Given the description of an element on the screen output the (x, y) to click on. 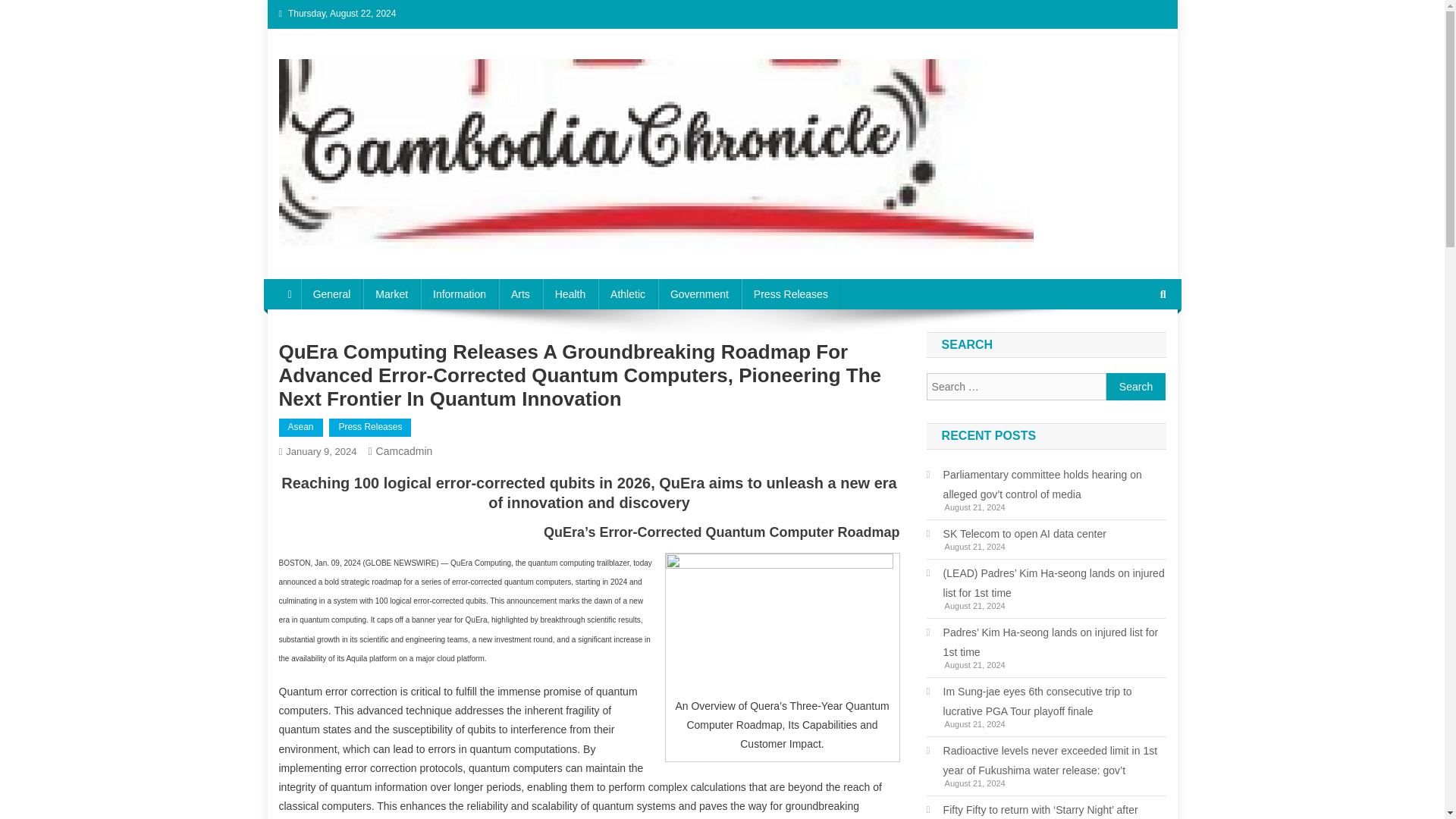
January 9, 2024 (320, 451)
Cambodia Chronicle (397, 263)
Information (458, 294)
Press Releases (790, 294)
Government (699, 294)
Search (1133, 344)
Asean (301, 427)
Press Releases (369, 427)
Athletic (628, 294)
Health (569, 294)
